Given the description of an element on the screen output the (x, y) to click on. 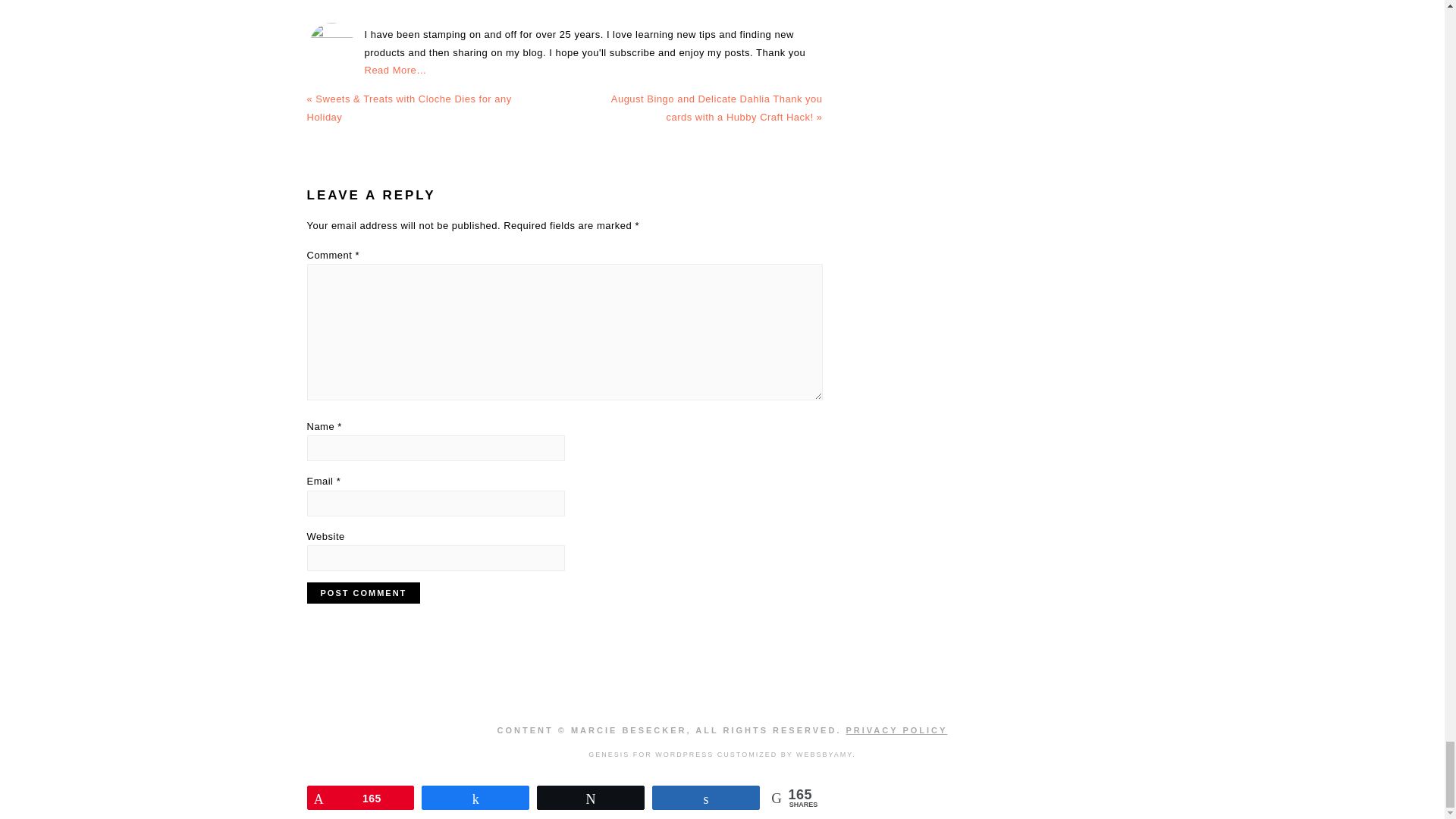
Post Comment (362, 592)
